Given the description of an element on the screen output the (x, y) to click on. 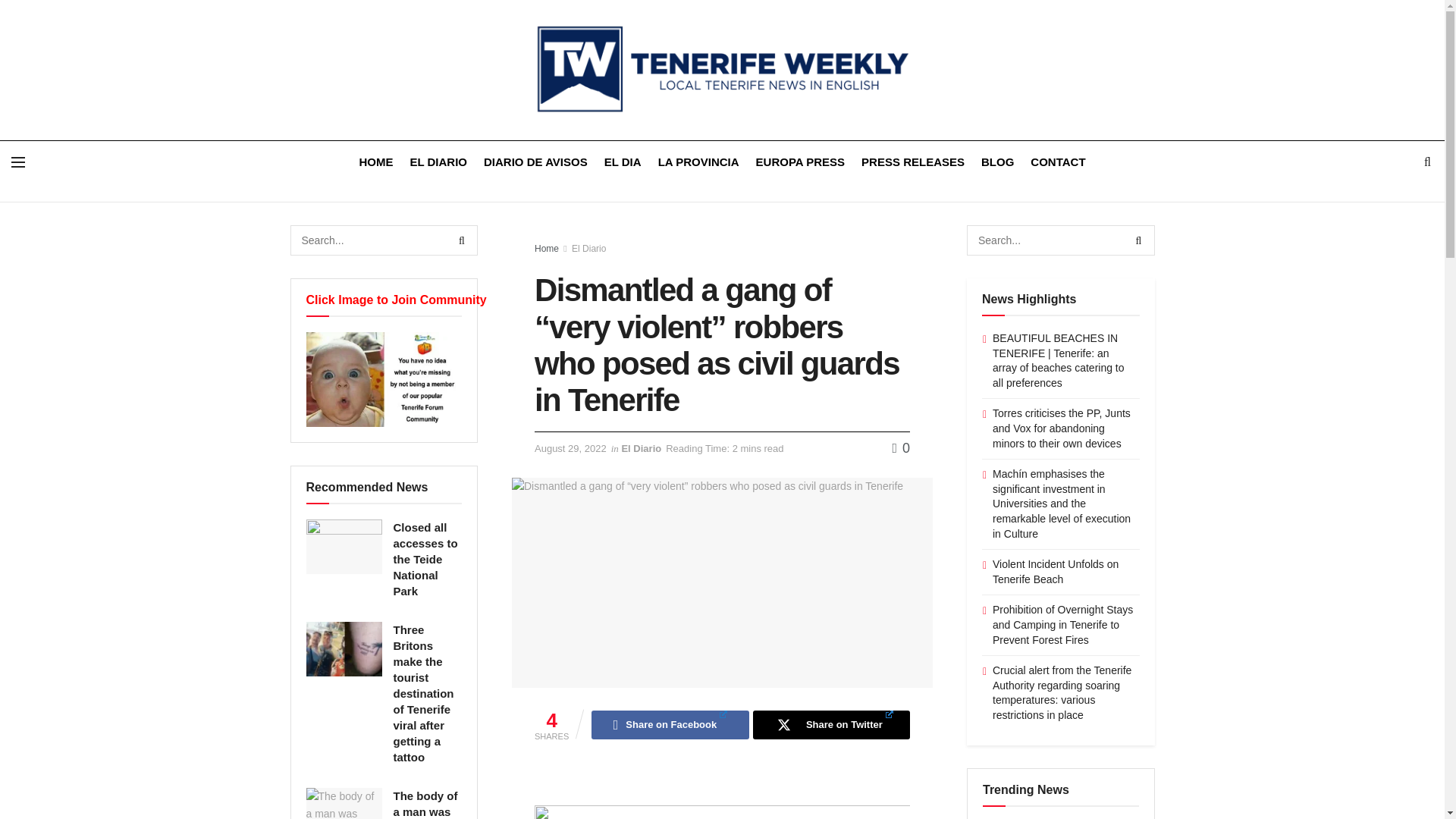
EL DIA (623, 161)
BLOG (997, 161)
PRESS RELEASES (912, 161)
EUROPA PRESS (800, 161)
0 (900, 447)
DIARIO DE AVISOS (535, 161)
Share on Twitter (831, 724)
August 29, 2022 (570, 448)
HOME (375, 161)
CONTACT (1057, 161)
EL DIARIO (438, 161)
LA PROVINCIA (698, 161)
El Diario (588, 248)
Share on Facebook (669, 724)
Home (546, 248)
